Given the description of an element on the screen output the (x, y) to click on. 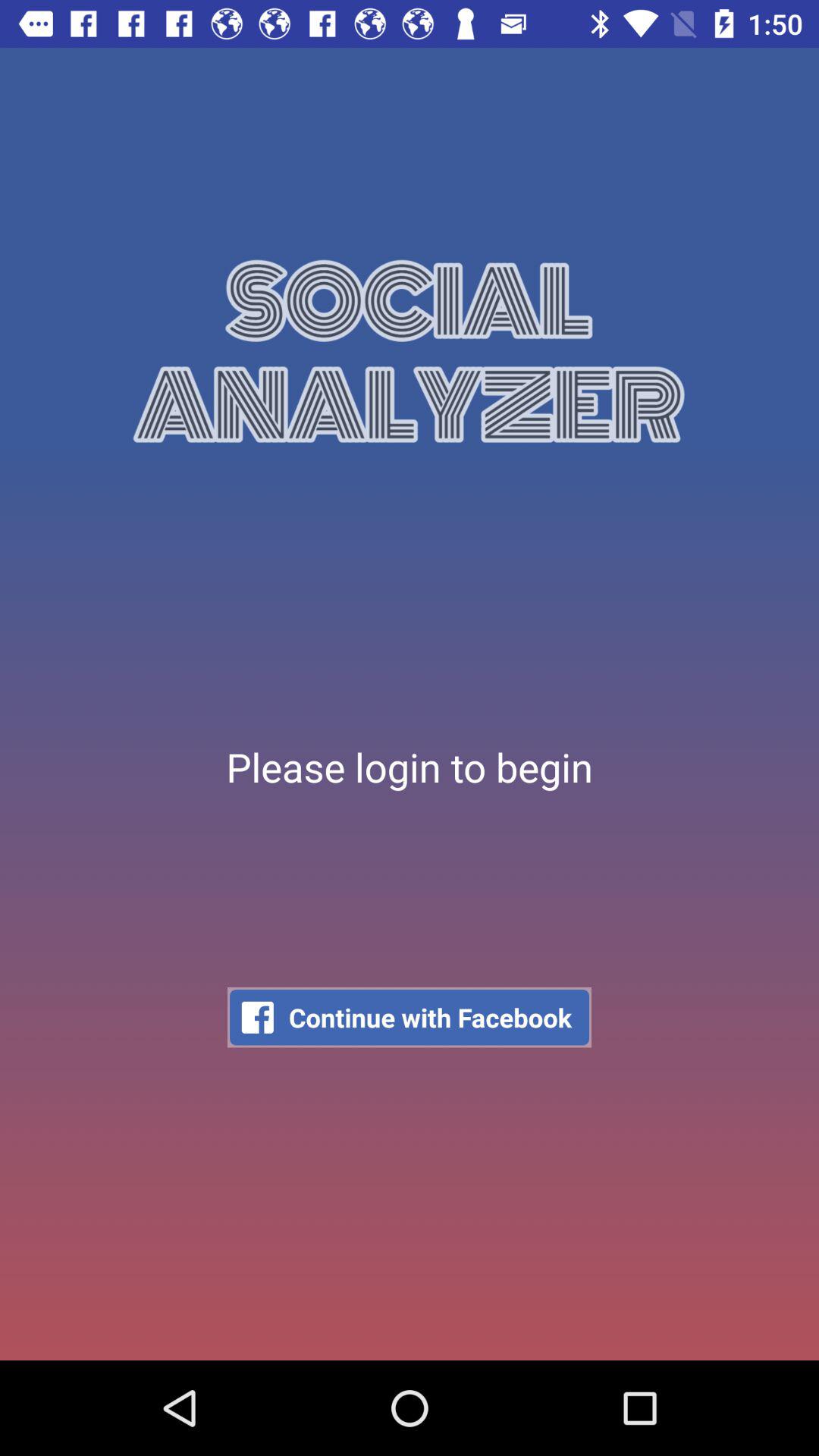
flip to continue with facebook icon (409, 1017)
